Given the description of an element on the screen output the (x, y) to click on. 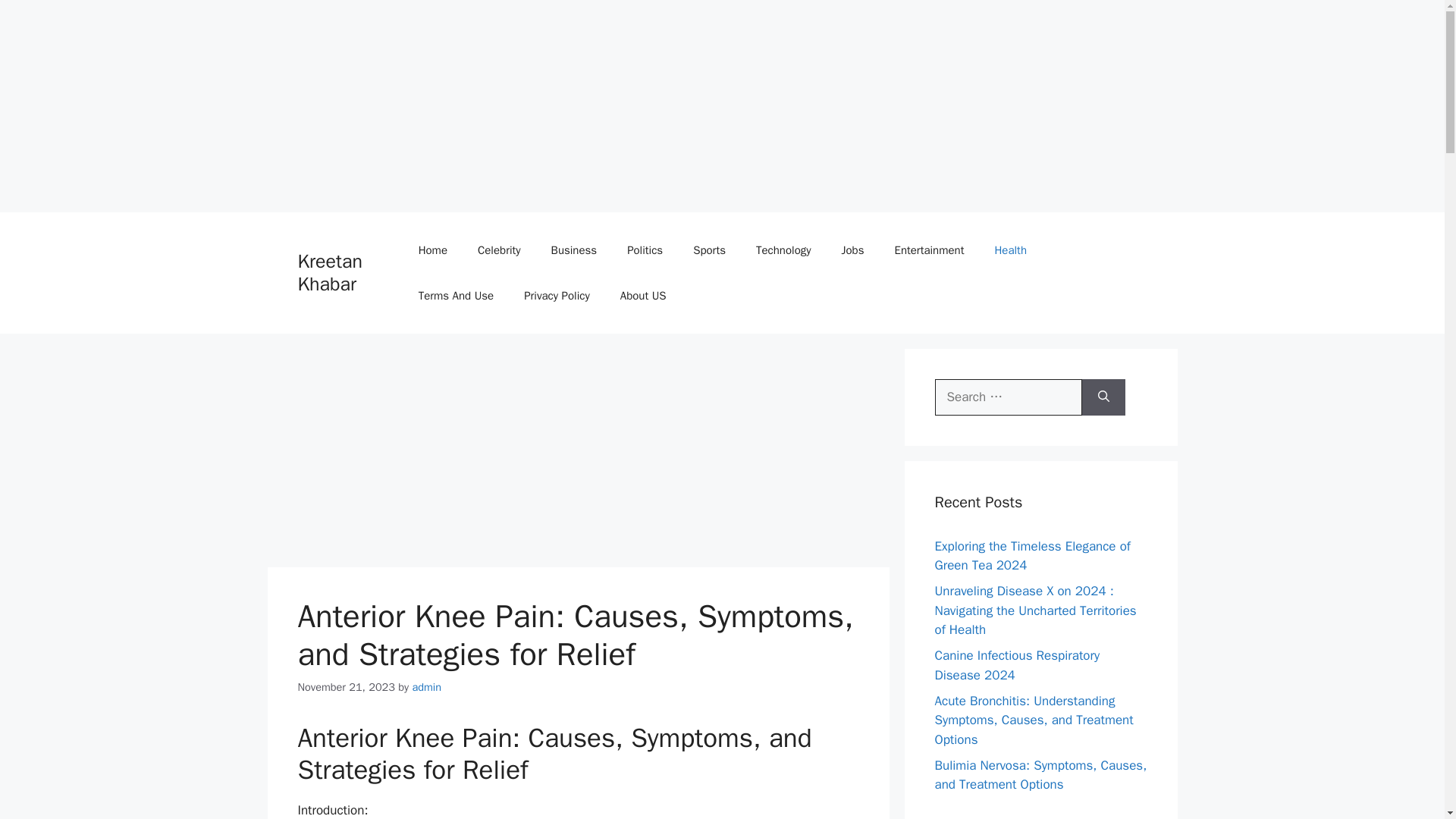
Privacy Policy (556, 295)
Sports (709, 249)
Bulimia Nervosa: Symptoms, Causes, and Treatment Options (1040, 774)
Canine Infectious Respiratory Disease 2024 (1016, 665)
Politics (644, 249)
About US (643, 295)
Exploring the Timeless Elegance of Green Tea 2024 (1031, 556)
Technology (784, 249)
View all posts by admin (426, 686)
Entertainment (928, 249)
